Given the description of an element on the screen output the (x, y) to click on. 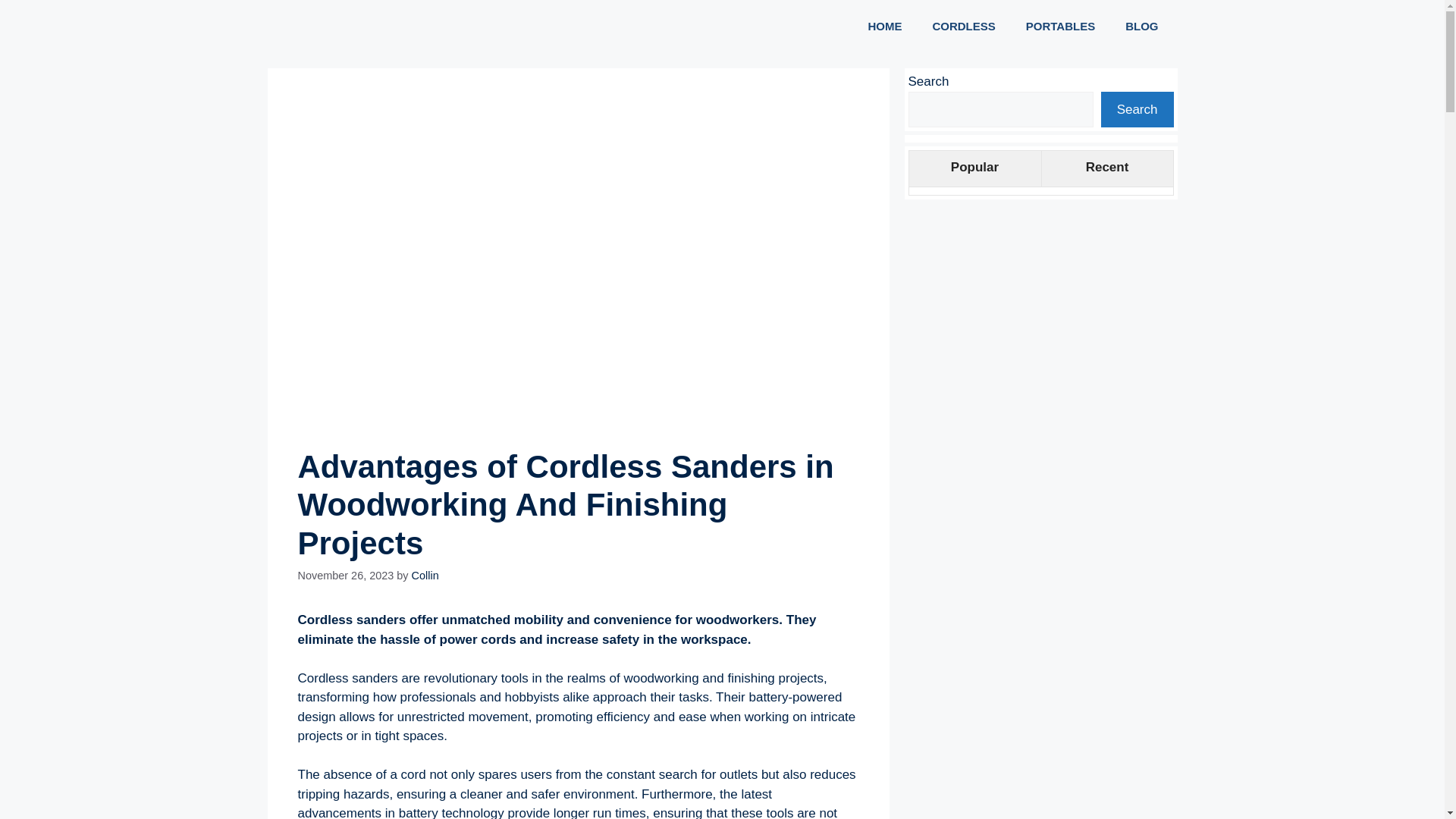
BLOG (1141, 26)
PORTABLES (1059, 26)
Collin (425, 575)
CORDLESS (963, 26)
HOME (884, 26)
View all posts by Collin (425, 575)
